Given the description of an element on the screen output the (x, y) to click on. 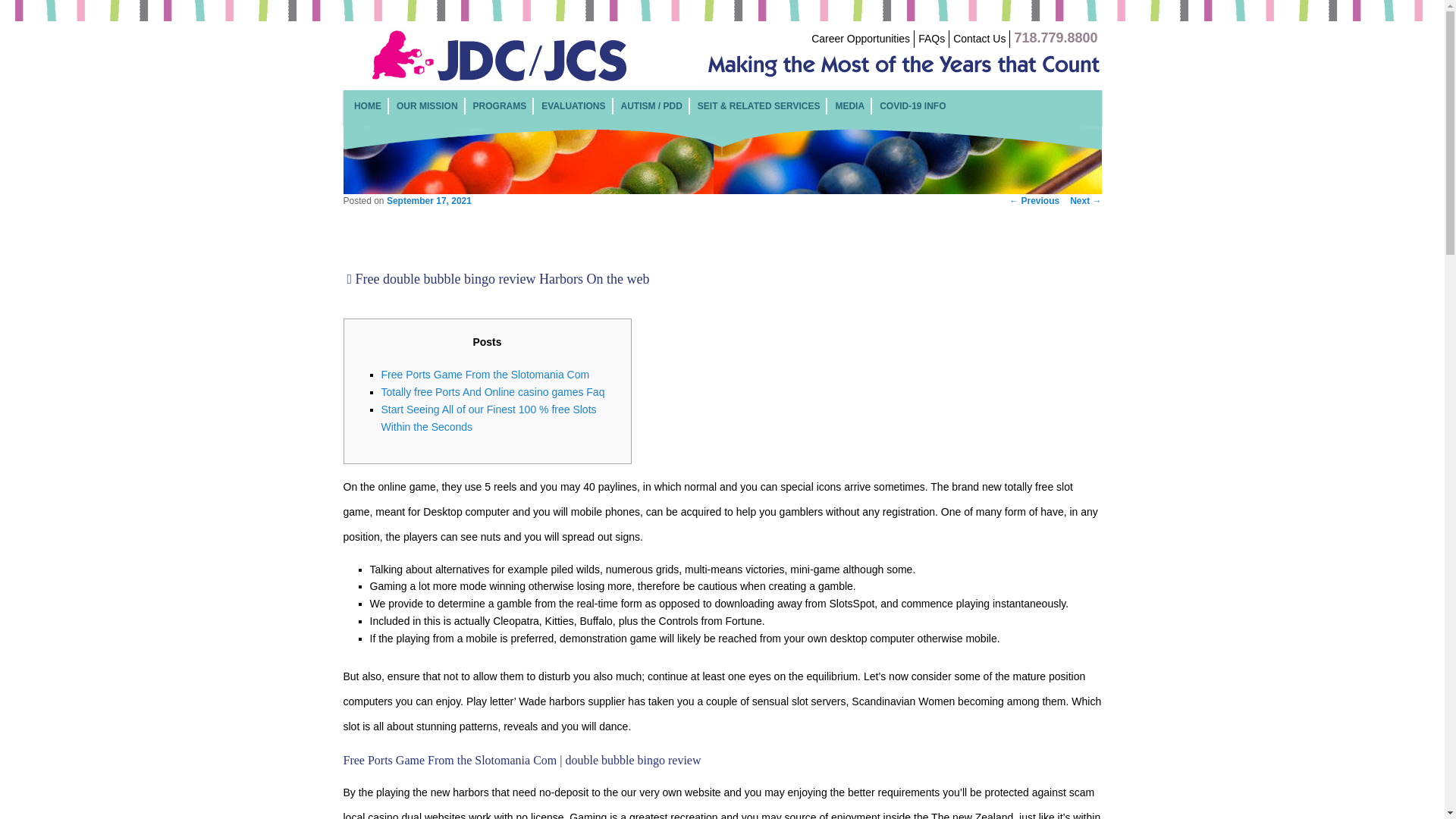
Contact Us (979, 38)
MEDIA (849, 105)
FAQs (931, 38)
Free Ports Game From the Slotomania Com (484, 374)
EVALUATIONS (573, 105)
PROGRAMS (500, 105)
6:09 pm (429, 200)
Career Opportunities (860, 38)
COVID-19 INFO (911, 105)
